Given the description of an element on the screen output the (x, y) to click on. 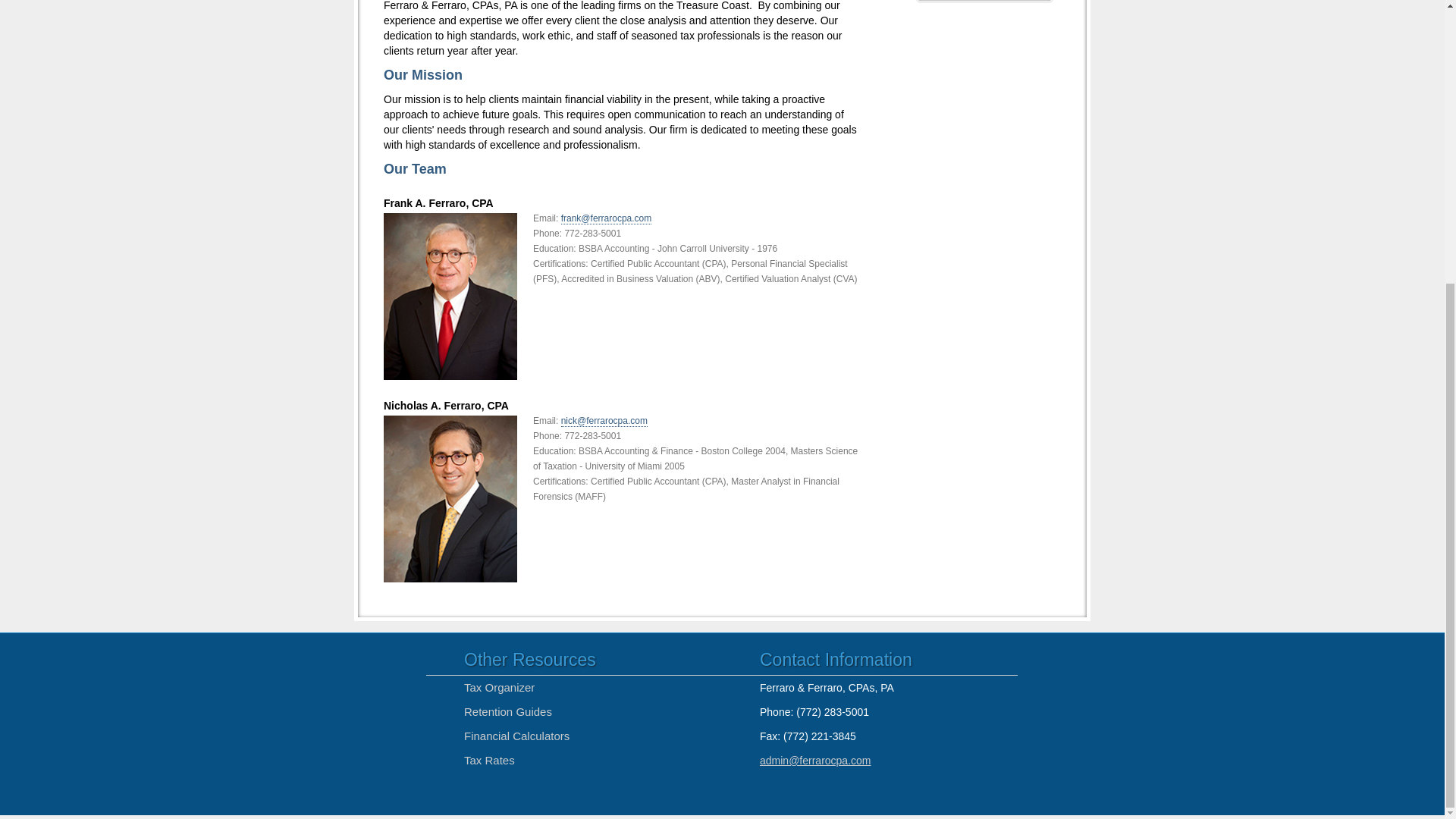
Frank A. Ferraro, CPA (622, 286)
Other Resources (529, 659)
Nicholas A. Ferraro, CPA (622, 489)
Retention Guides (507, 711)
Tax Organizer (499, 686)
Financial Calculators (516, 735)
Contact Information (836, 659)
Tax Rates (489, 759)
